Given the description of an element on the screen output the (x, y) to click on. 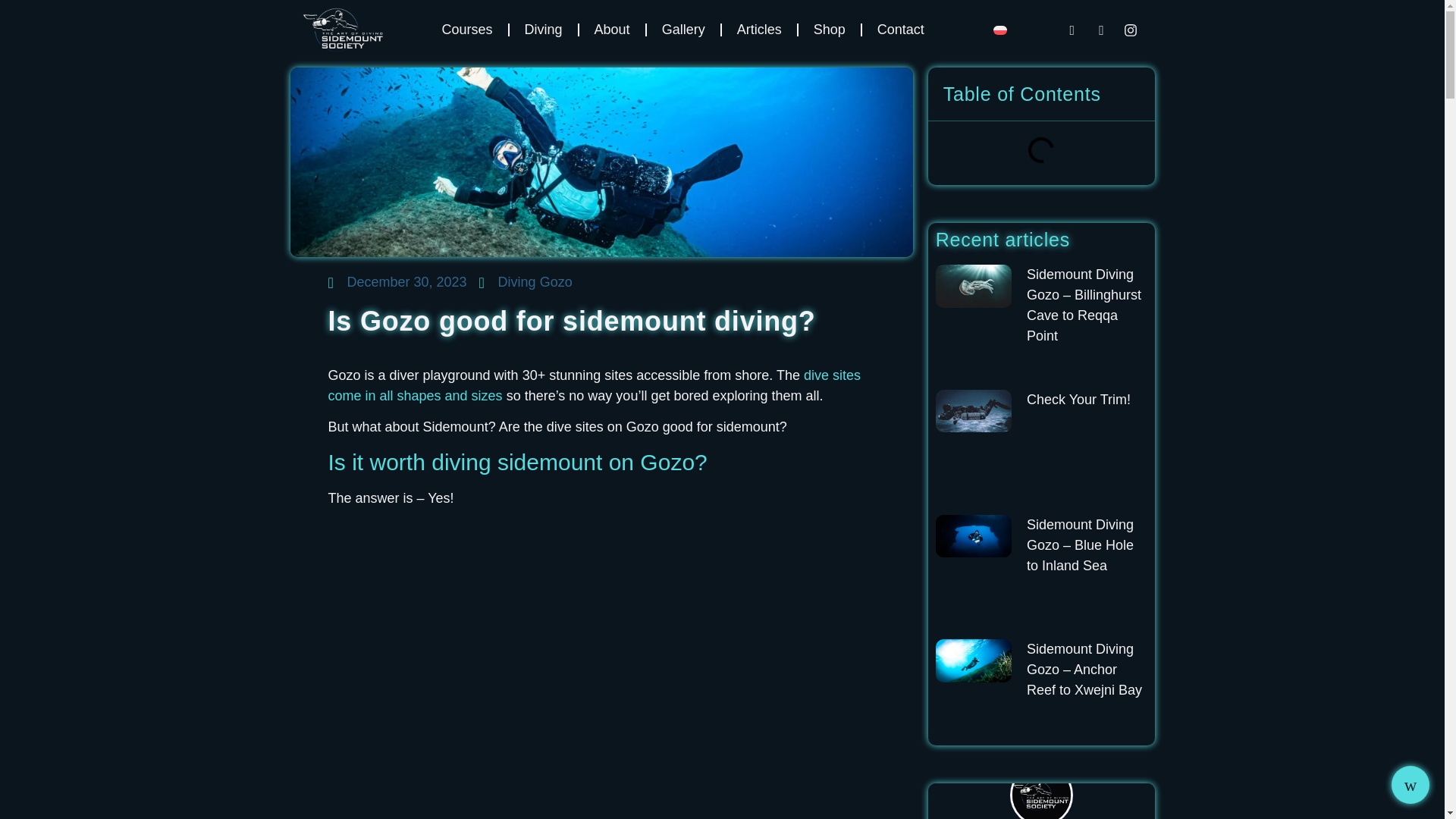
About (612, 29)
Check Your Trim! (1078, 399)
Gallery (683, 29)
Contact (900, 29)
dive sites come in all shapes and sizes (593, 385)
Shop (828, 29)
Diving Gozo (534, 281)
Courses (467, 29)
Diving (543, 29)
Articles (759, 29)
